Given the description of an element on the screen output the (x, y) to click on. 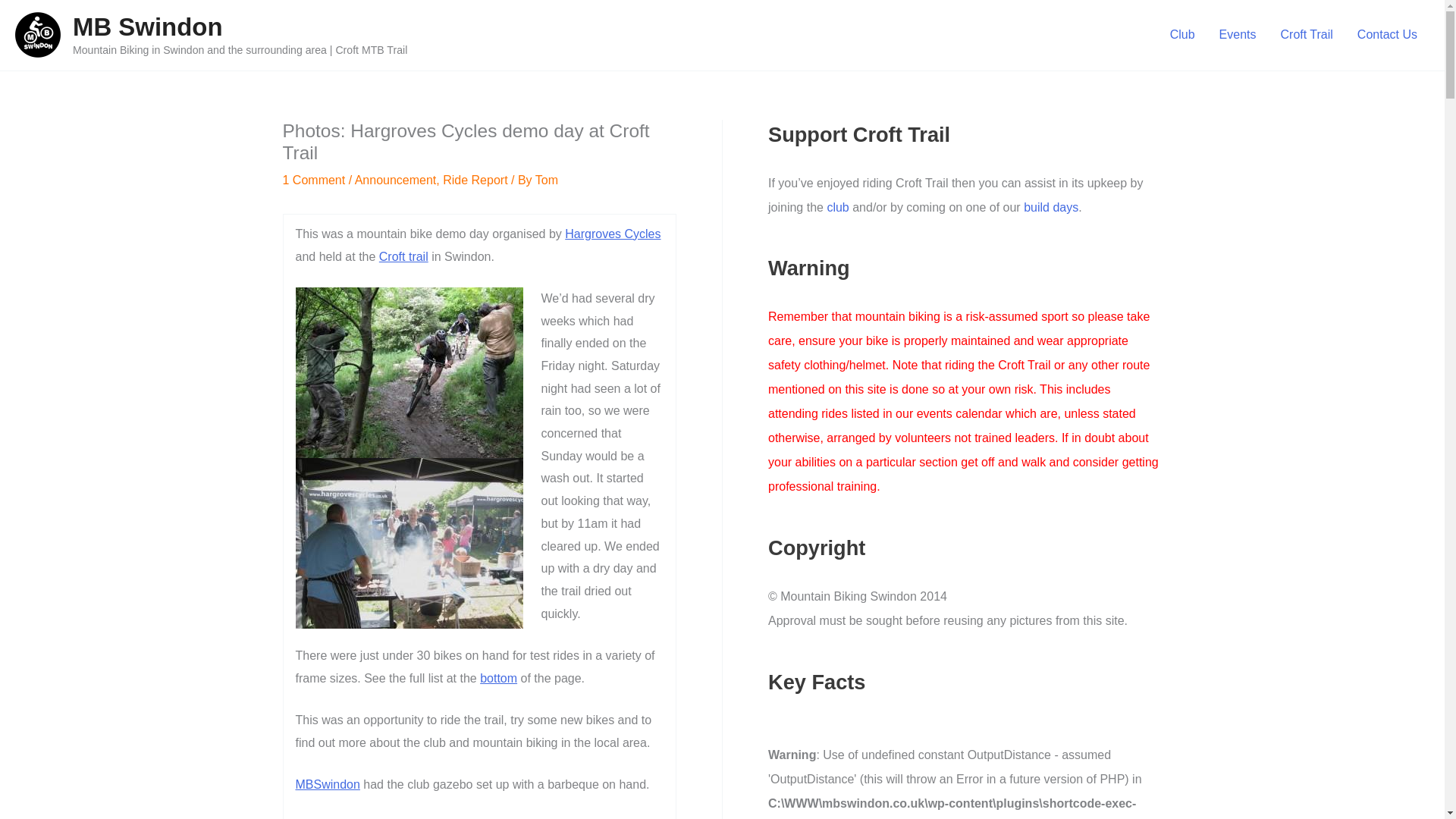
1 Comment (313, 179)
View all posts by Tom (546, 179)
Croft Trail (1306, 34)
Events (1237, 34)
Announcement (395, 179)
Contact Us (1387, 34)
MB Swindon (147, 26)
